Given the description of an element on the screen output the (x, y) to click on. 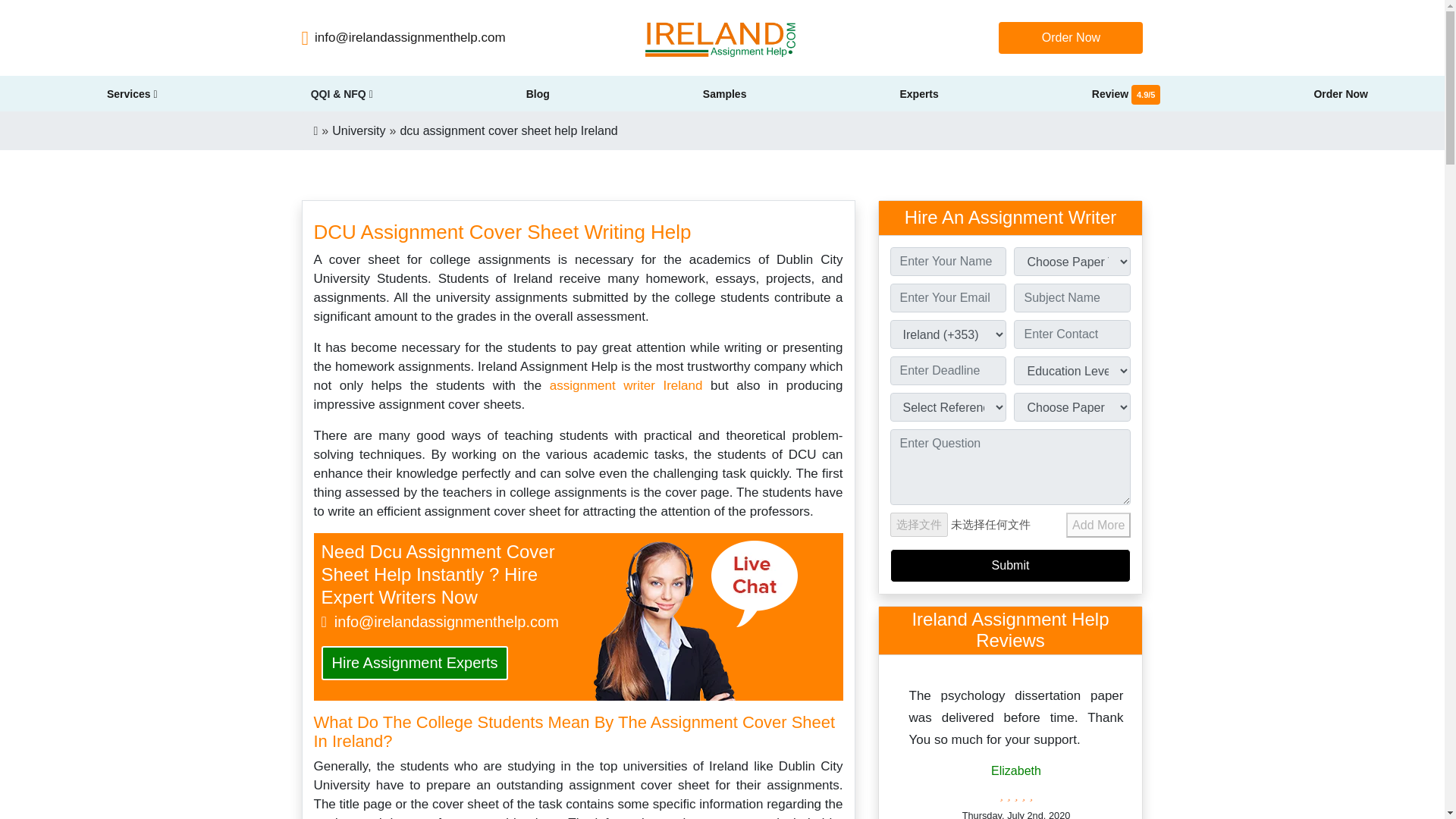
Services (131, 93)
Ireland Assignment Help (722, 37)
Submit (1010, 564)
Order Now (1070, 37)
Assignment Writer Ireland (626, 385)
Order Now (1070, 37)
Quick Chat With Writers (694, 620)
